Given the description of an element on the screen output the (x, y) to click on. 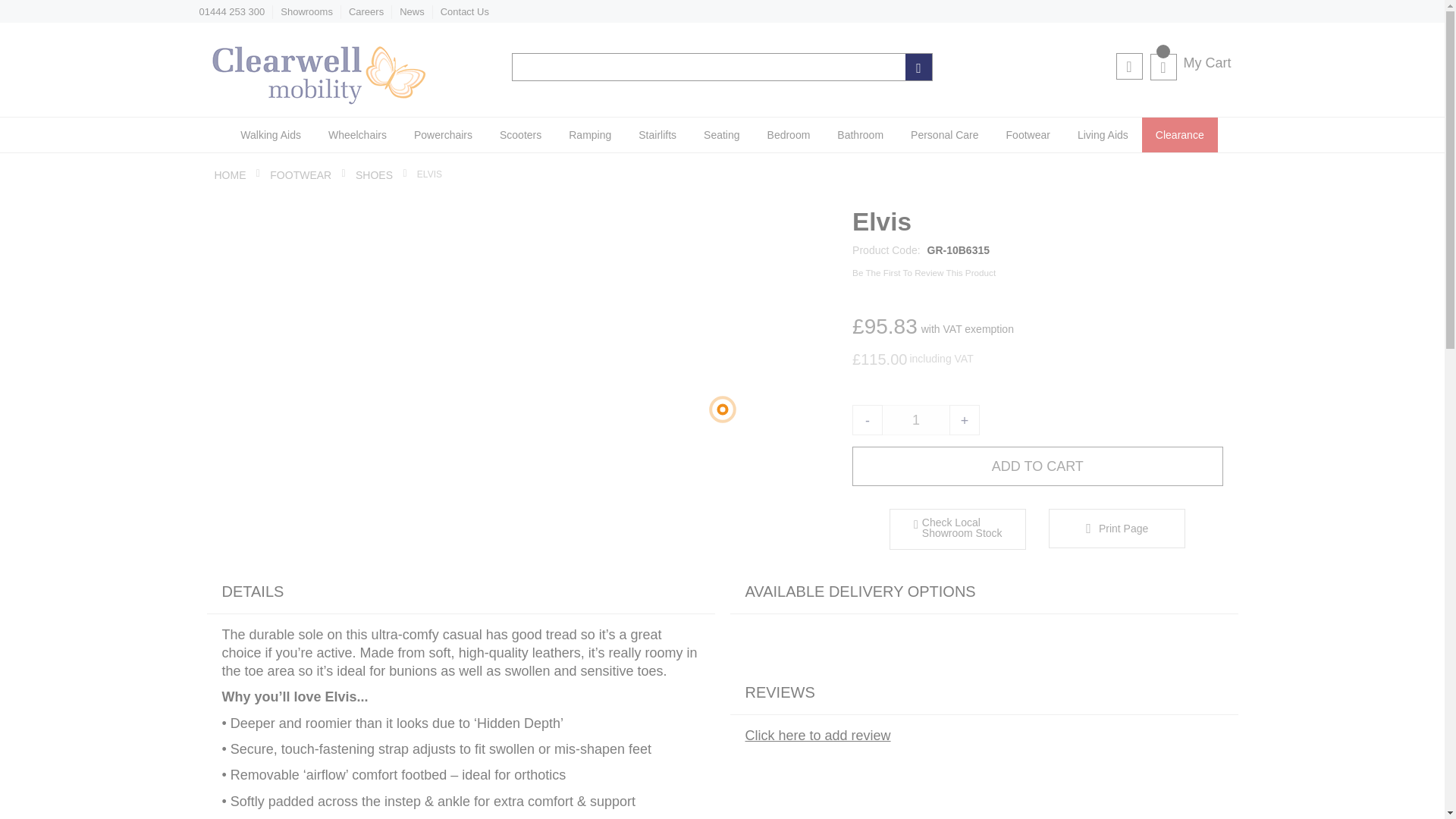
Quick Shop (957, 528)
News (411, 11)
Search (918, 67)
Footwear (300, 174)
Powerchairs (443, 134)
My Cart (1190, 63)
1 (916, 419)
Contact Us (465, 11)
Shoes (374, 174)
Careers (366, 11)
